Given the description of an element on the screen output the (x, y) to click on. 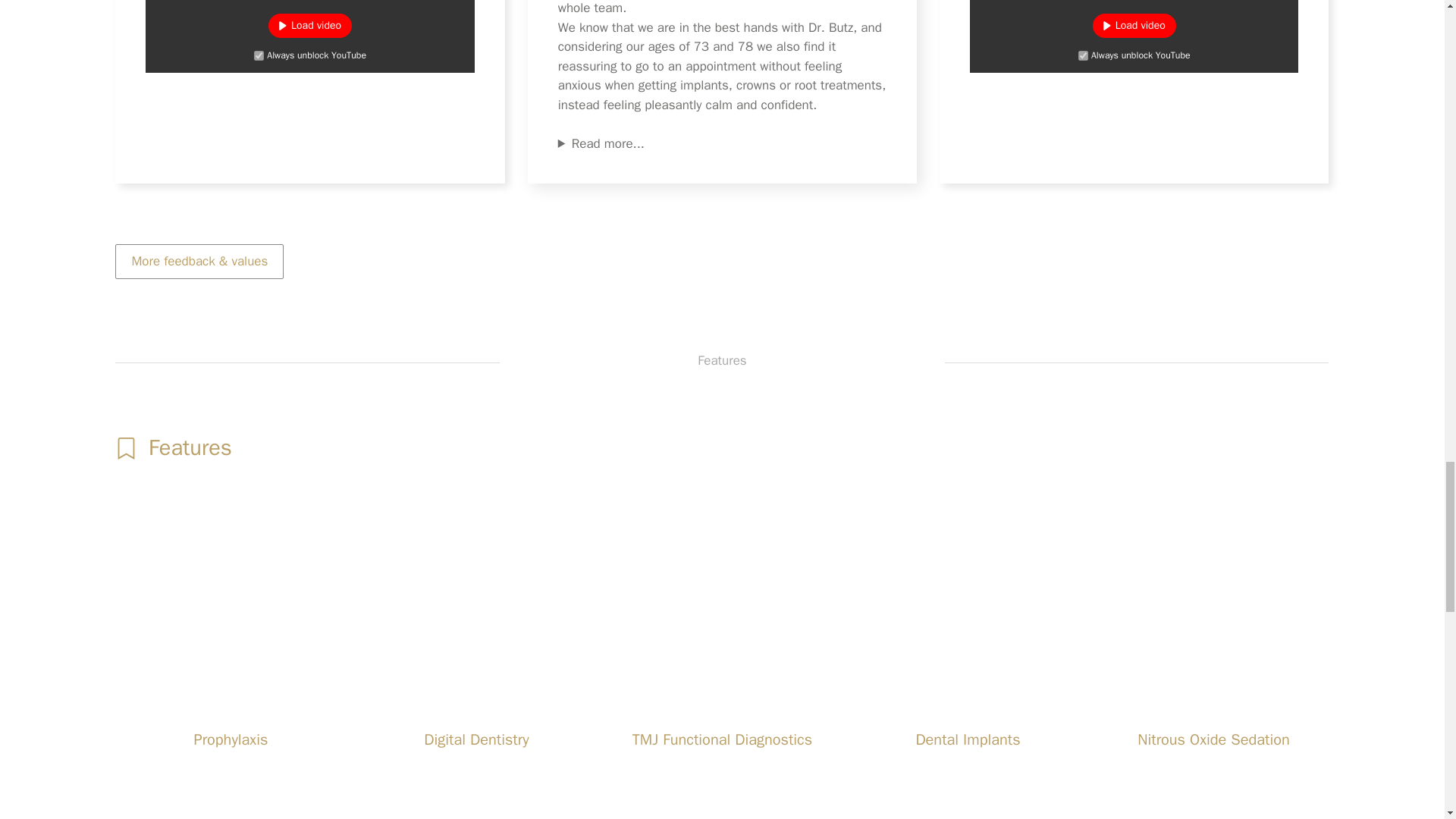
1 (258, 55)
1 (1082, 55)
